Given the description of an element on the screen output the (x, y) to click on. 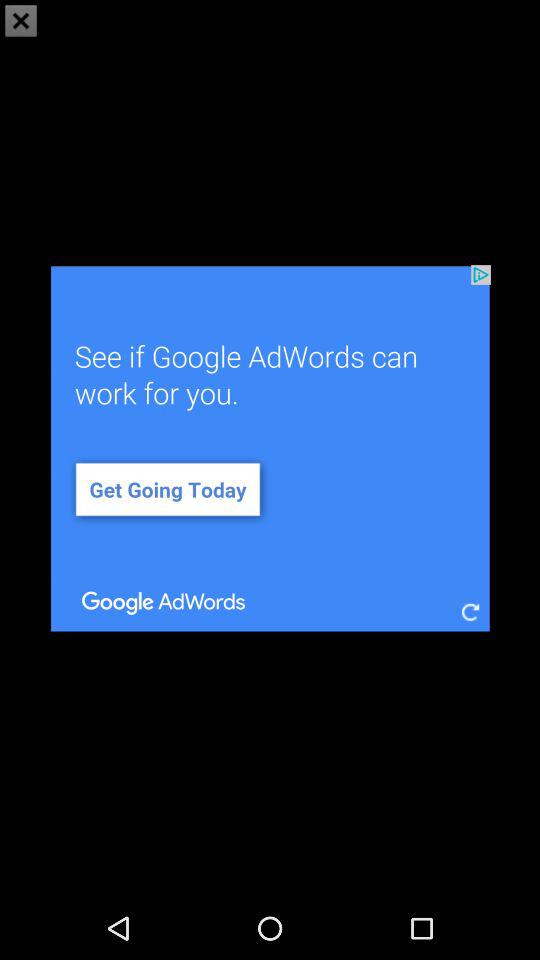
tap the icon at the top left corner (21, 20)
